Given the description of an element on the screen output the (x, y) to click on. 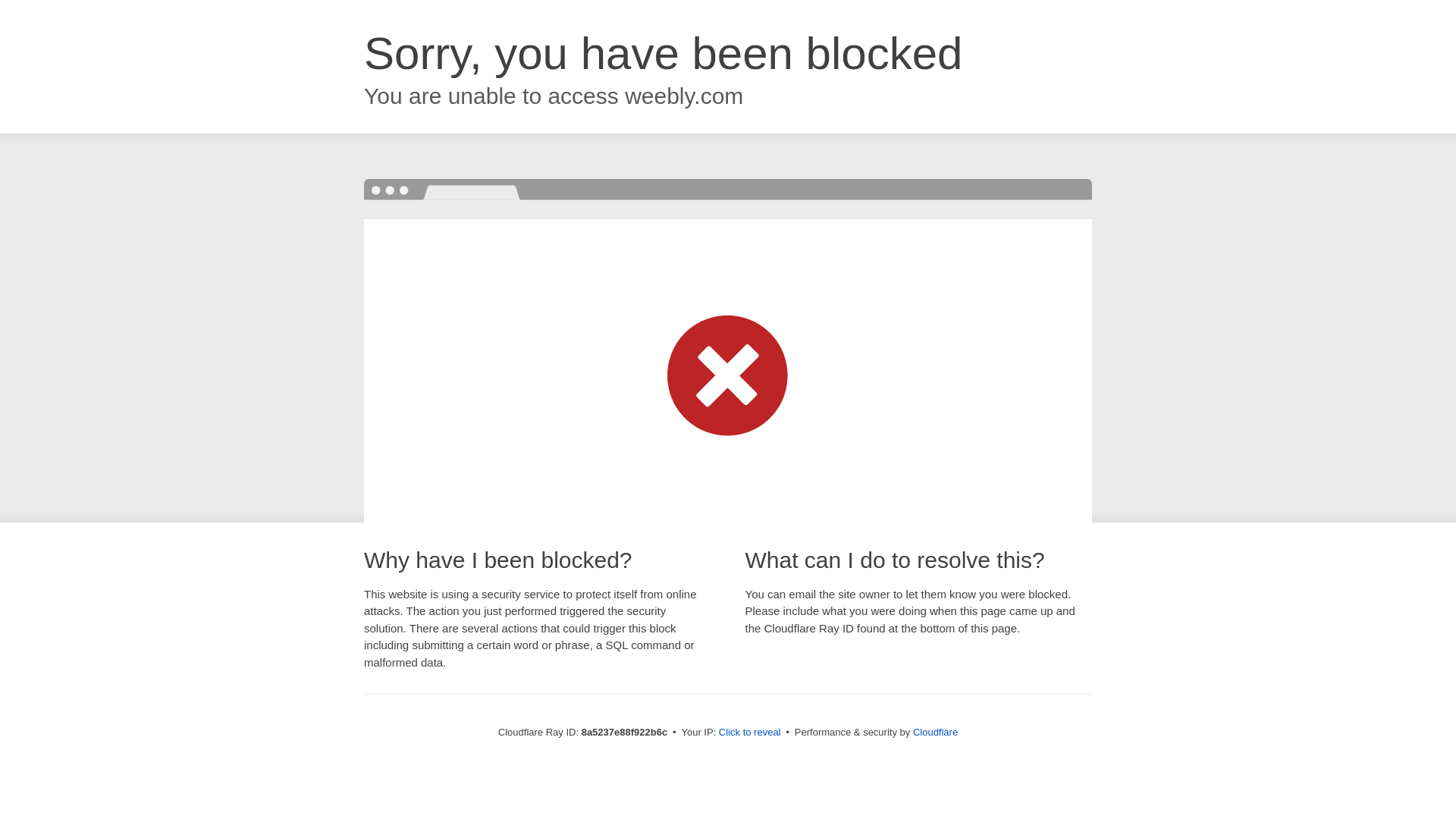
Cloudflare (935, 731)
Click to reveal (749, 732)
